Given the description of an element on the screen output the (x, y) to click on. 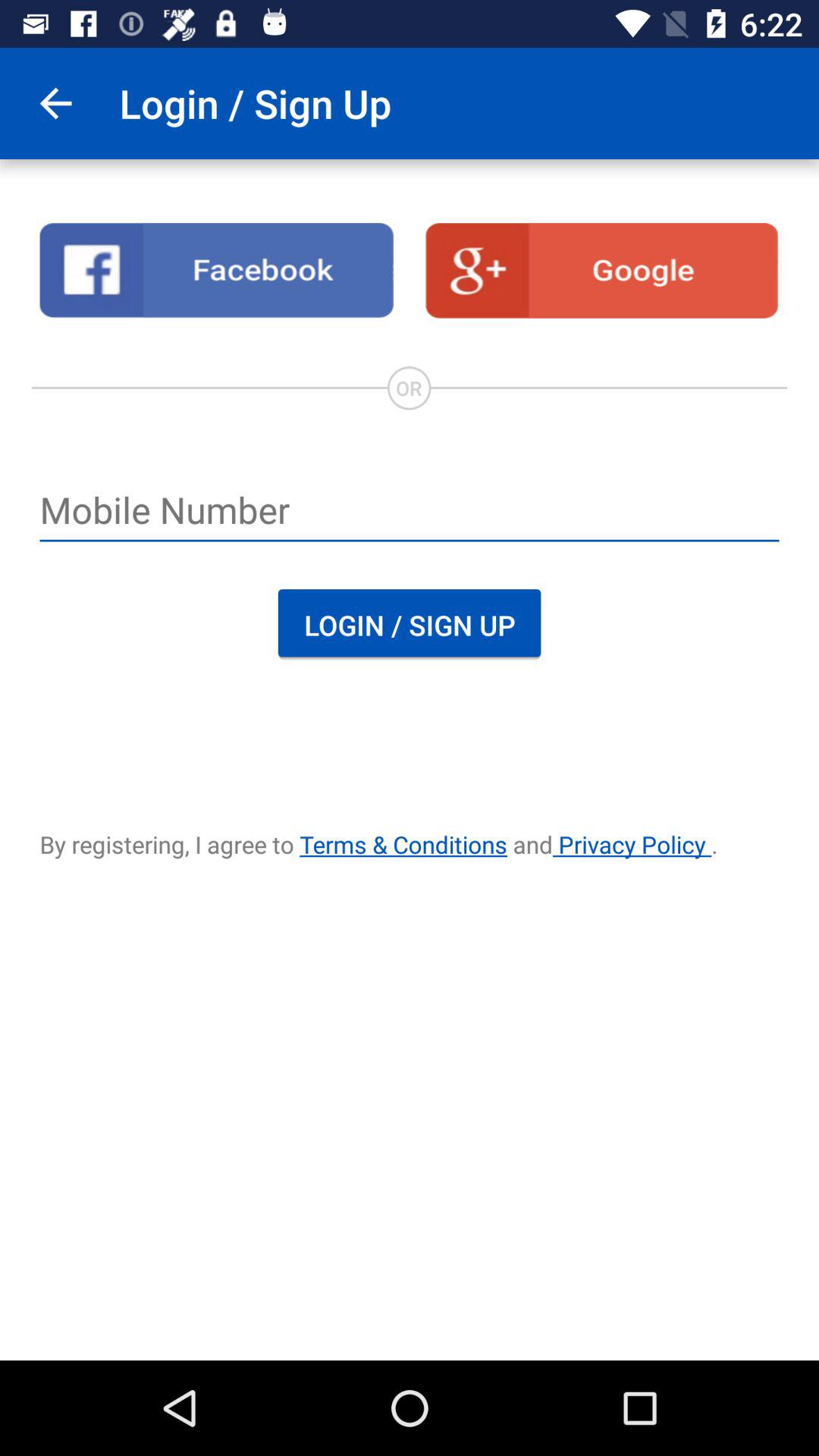
type phone number (409, 511)
